Given the description of an element on the screen output the (x, y) to click on. 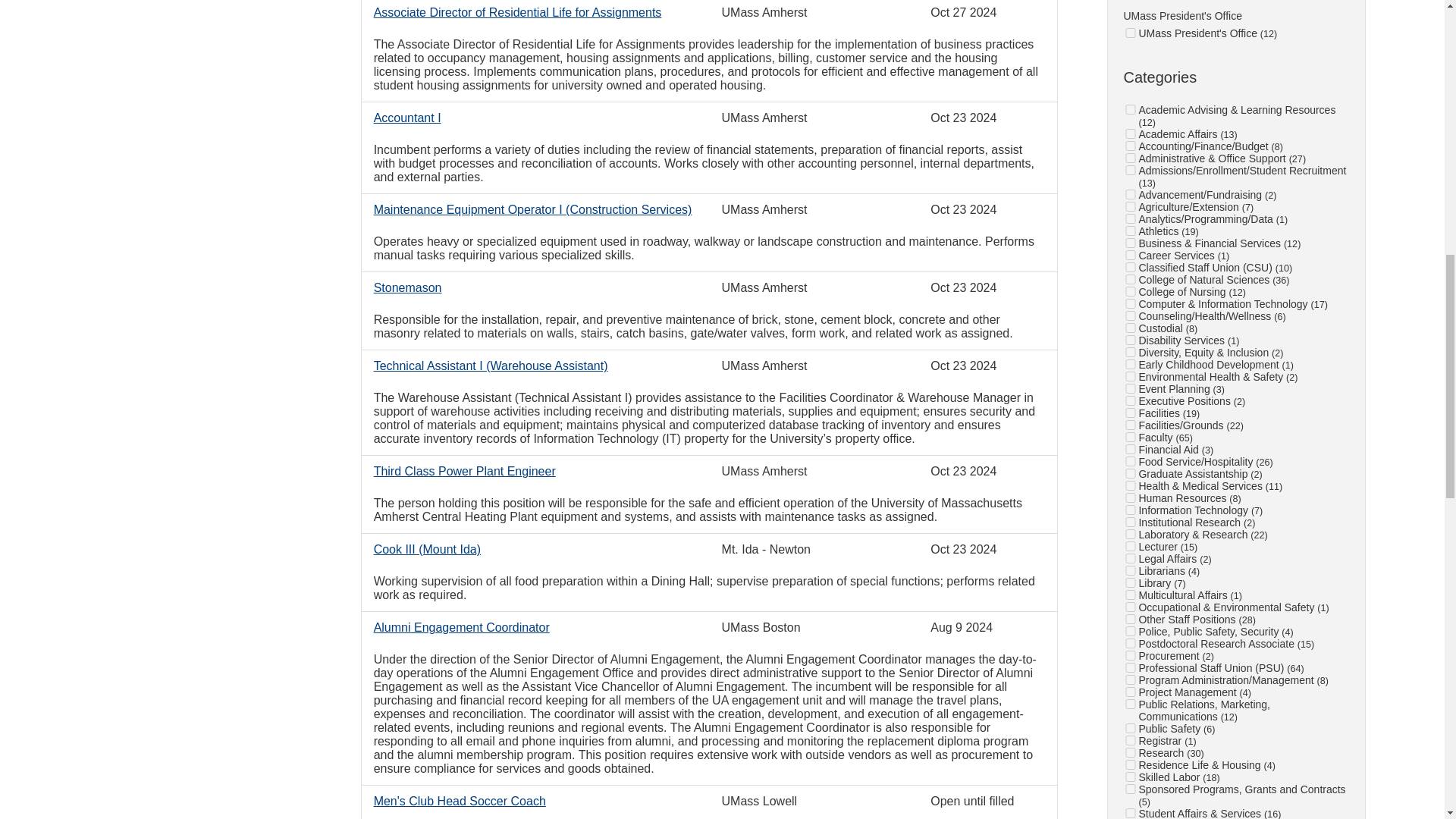
UMass President's Office (1130, 32)
Academic Affairs (1130, 133)
